Given the description of an element on the screen output the (x, y) to click on. 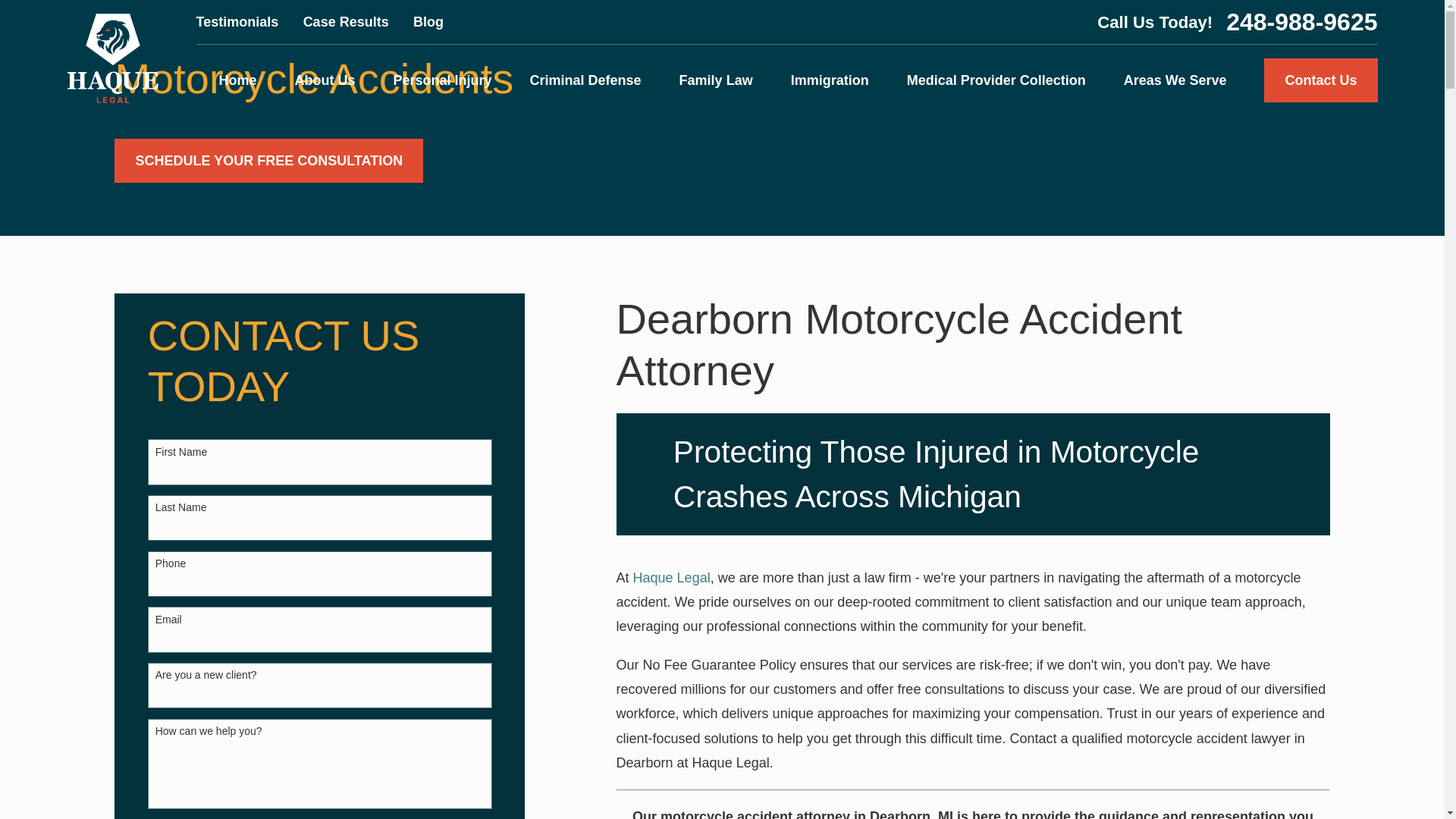
Criminal Defense (585, 80)
Case Results (345, 21)
Personal Injury (442, 80)
About Us (324, 80)
248-988-9625 (1301, 21)
Testimonials (237, 21)
Family Law (715, 80)
Blog (428, 21)
